Given the description of an element on the screen output the (x, y) to click on. 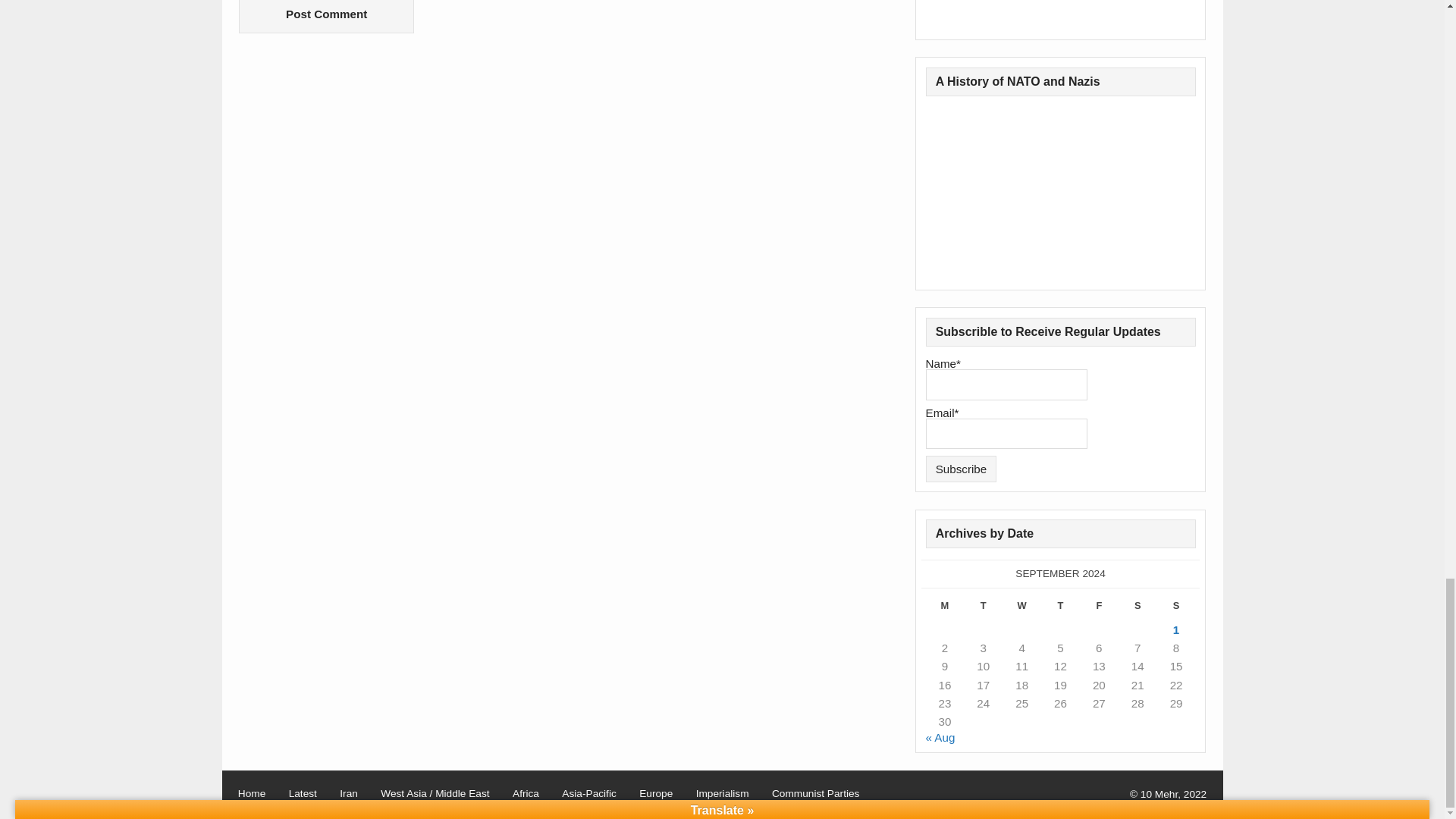
Tuesday (983, 608)
Sunday (1176, 608)
Wednesday (1022, 608)
Thursday (1060, 608)
Subscribe (961, 468)
Saturday (1137, 608)
Monday (944, 608)
Latest (302, 793)
Post Comment (325, 16)
Post Comment (325, 16)
